Given the description of an element on the screen output the (x, y) to click on. 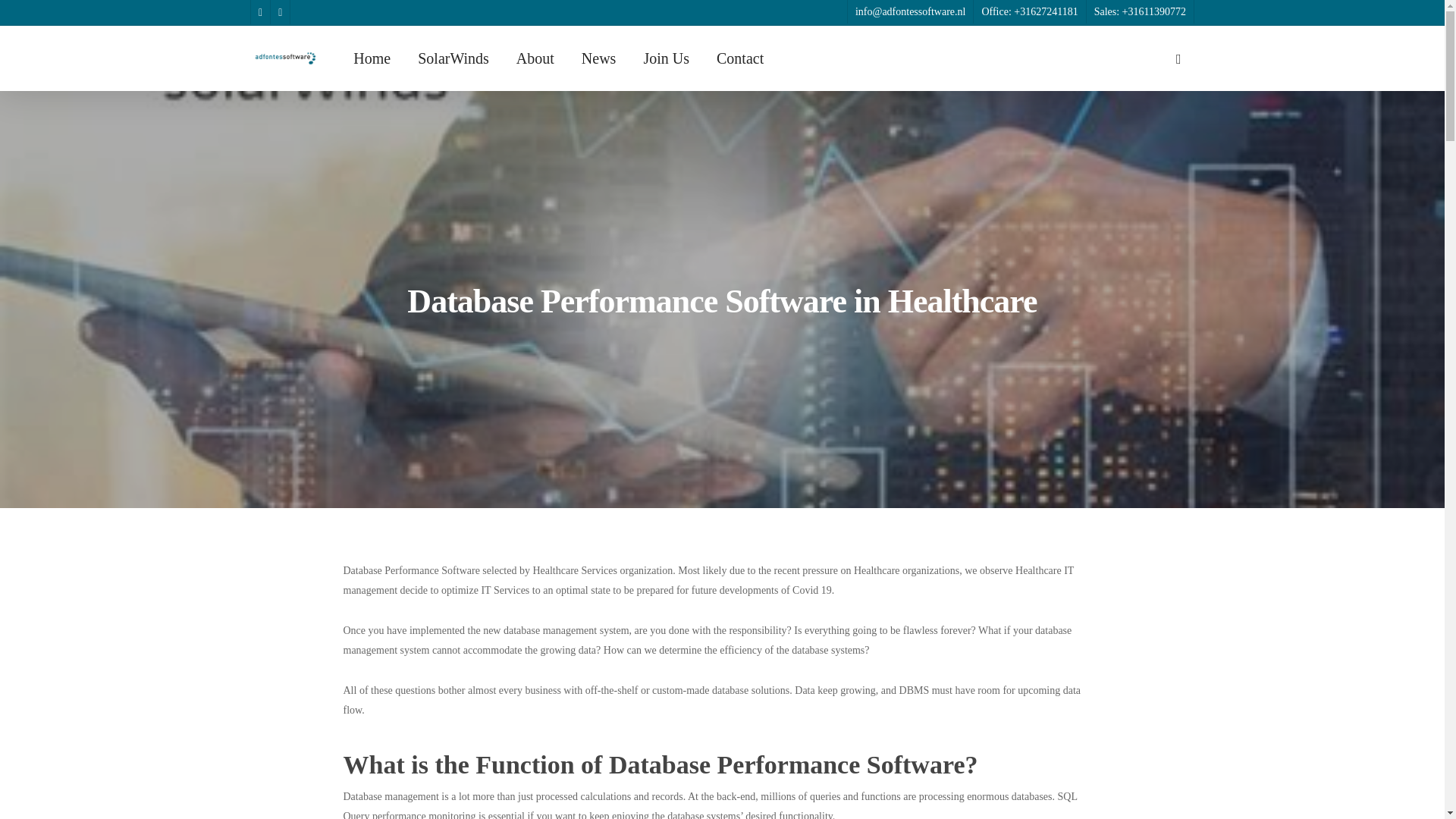
Contact (739, 58)
About (535, 58)
SolarWinds (453, 58)
Home (371, 58)
News (597, 58)
Join Us (665, 58)
